Given the description of an element on the screen output the (x, y) to click on. 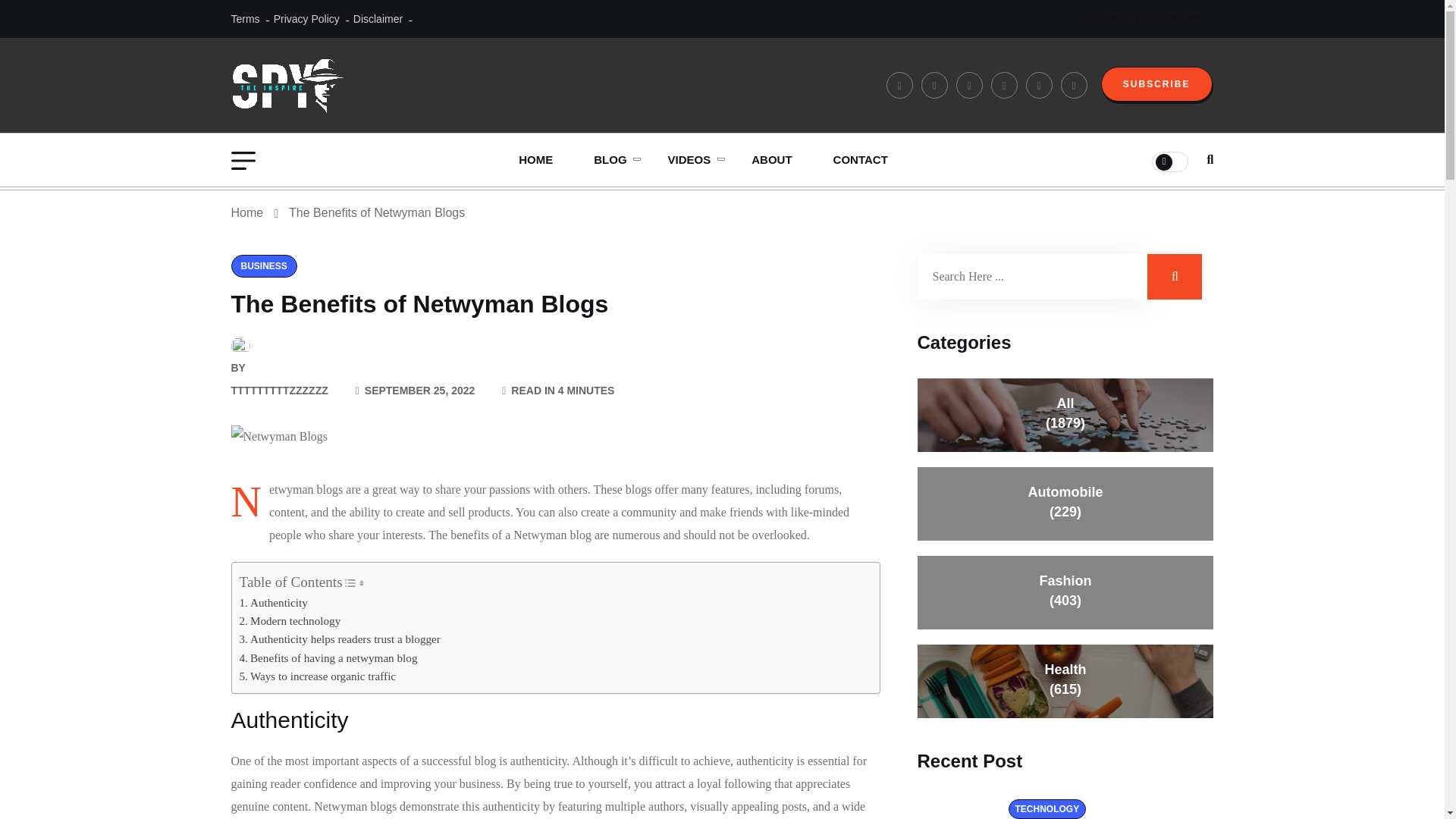
Authenticity helps readers trust a blogger (340, 638)
Modern technology (290, 620)
Ways to increase organic traffic (318, 676)
BLOG (610, 159)
HOME (535, 159)
CONTACT (860, 159)
Terms (244, 18)
ABOUT (771, 159)
Privacy Policy (306, 18)
Disclaimer (378, 18)
